Given the description of an element on the screen output the (x, y) to click on. 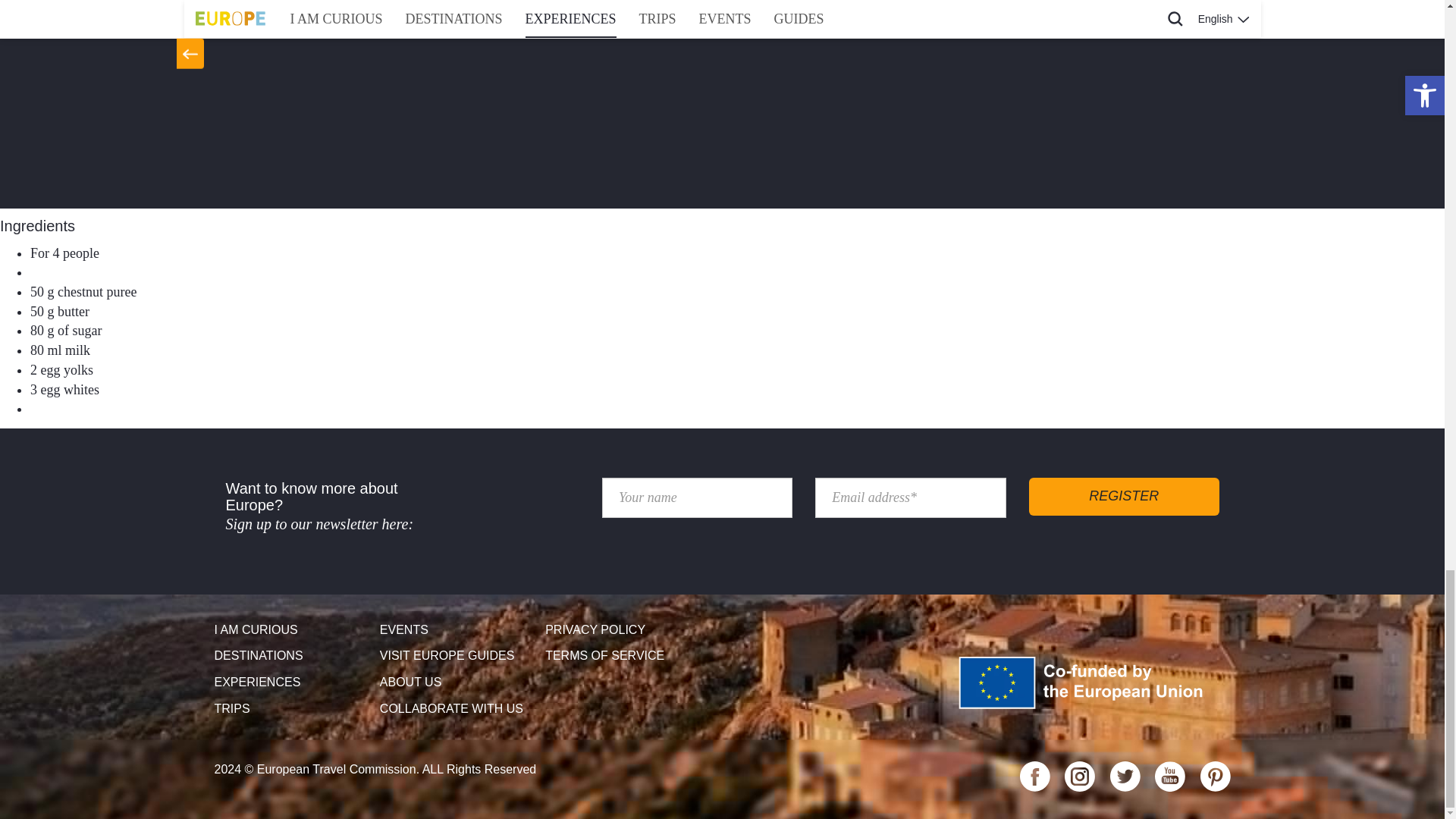
TERMS OF SERVICE (621, 655)
Register (1124, 496)
PRIVACY POLICY (621, 630)
TRIPS (291, 709)
ABOUT US (457, 682)
I AM CURIOUS (291, 630)
COLLABORATE WITH US (457, 709)
EVENTS (457, 630)
EXPERIENCES (291, 682)
DESTINATIONS (291, 655)
